Given the description of an element on the screen output the (x, y) to click on. 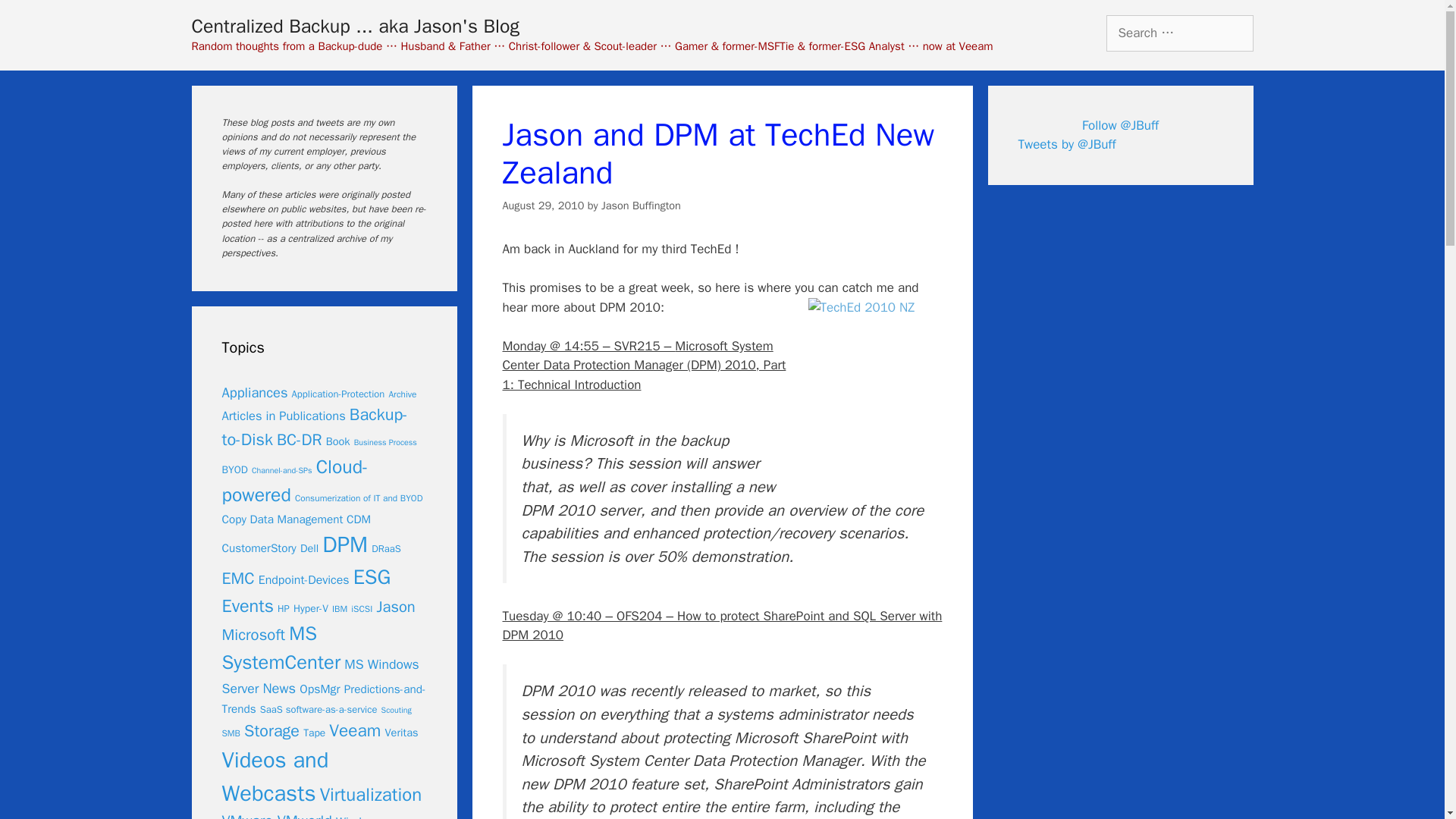
Appliances (253, 392)
CustomerStory (258, 548)
Centralized Backup ... aka Jason's Blog (354, 25)
Articles in Publications (283, 415)
Jason Buffington (641, 205)
Search for: (1178, 33)
Backup-to-Disk (314, 427)
BYOD (234, 469)
DPM (344, 544)
Search (35, 18)
Archive (402, 394)
Book (338, 440)
View all posts by Jason Buffington (641, 205)
Consumerization of IT and BYOD (359, 498)
DRaaS (386, 548)
